Given the description of an element on the screen output the (x, y) to click on. 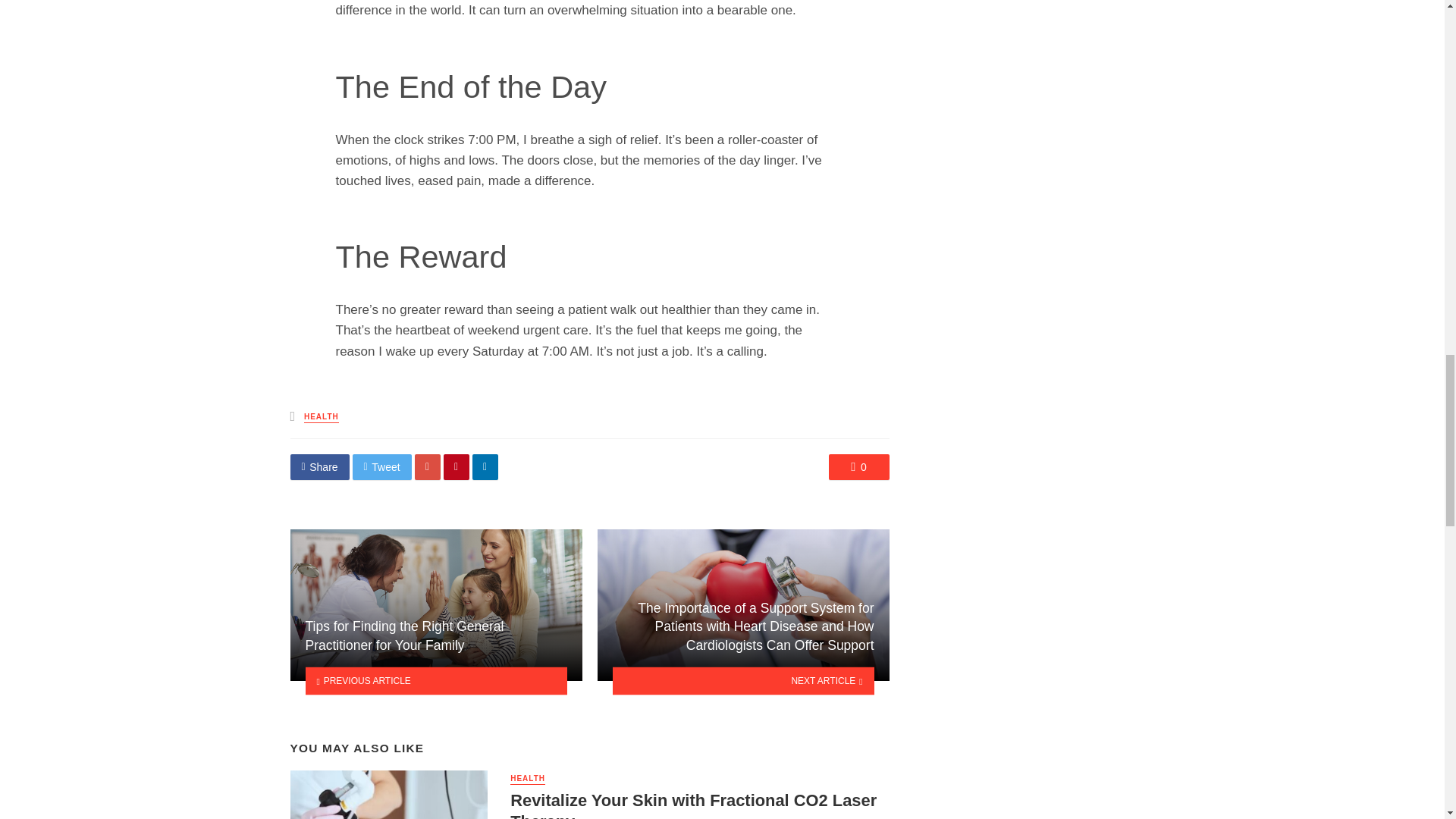
Share (319, 466)
NEXT ARTICLE (742, 681)
HEALTH (321, 417)
PREVIOUS ARTICLE (434, 681)
Tweet (382, 466)
0 (858, 466)
HEALTH (527, 778)
Revitalize Your Skin with Fractional CO2 Laser Therapy (699, 804)
